Given the description of an element on the screen output the (x, y) to click on. 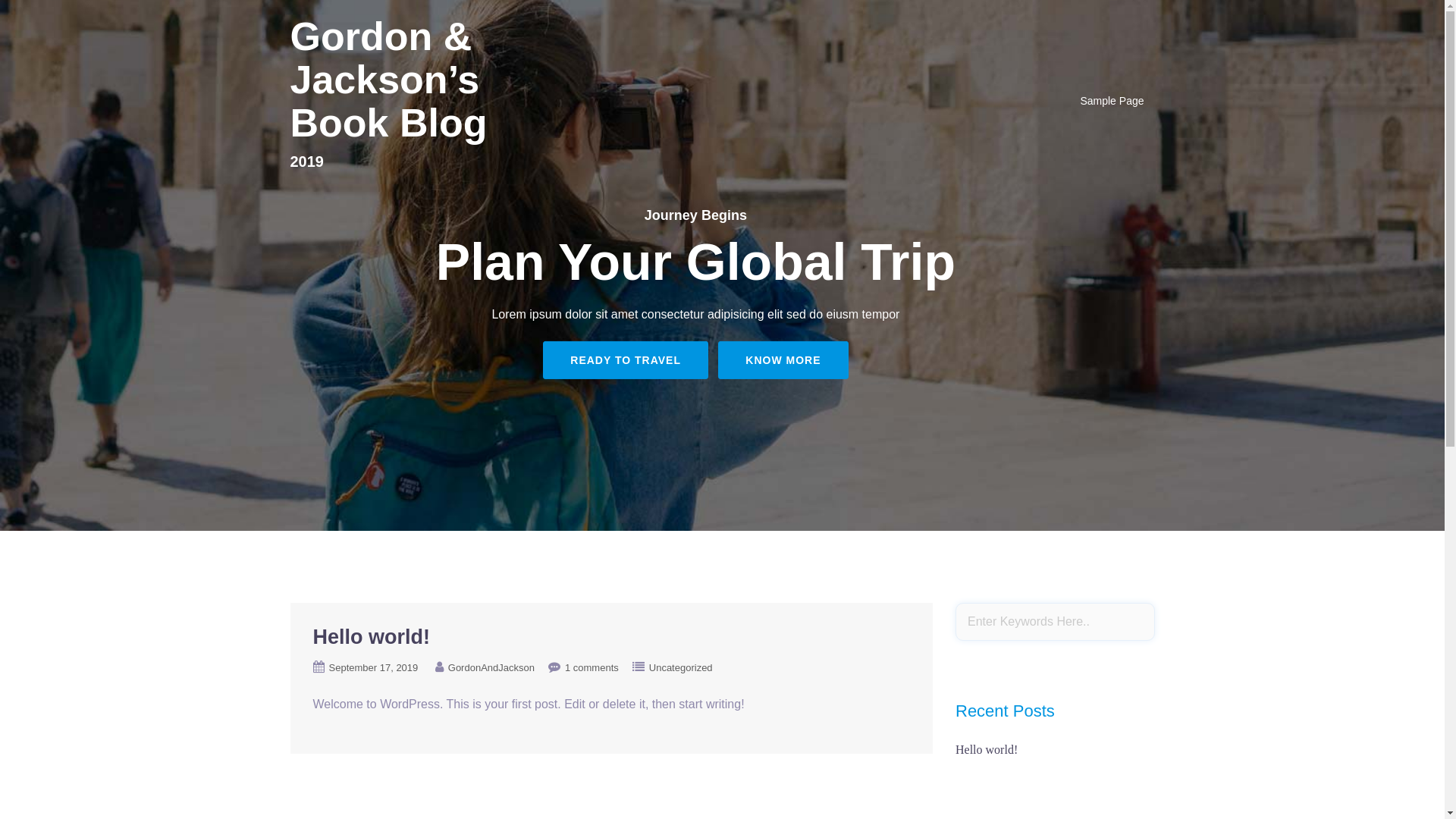
Uncategorized Element type: text (680, 667)
READY TO TRAVEL Element type: text (625, 360)
Sample Page Element type: text (1111, 100)
Hello world! Element type: text (370, 636)
September 17, 2019 Element type: text (373, 667)
Hello world! Element type: text (986, 749)
Search Element type: text (50, 18)
1 comments Element type: text (591, 667)
GordonAndJackson Element type: text (491, 667)
KNOW MORE Element type: text (782, 360)
